Given the description of an element on the screen output the (x, y) to click on. 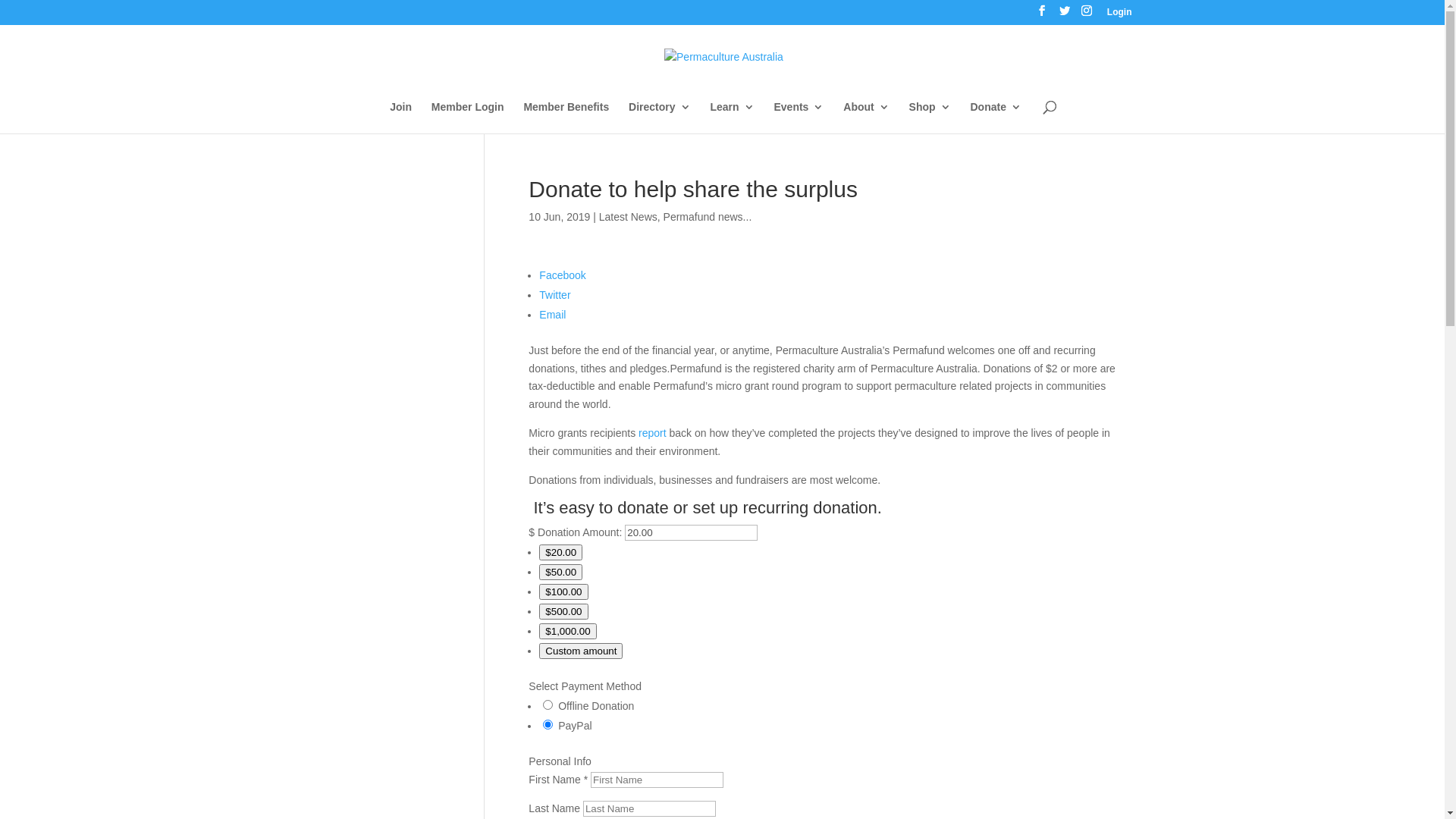
$1,000.00 Element type: text (567, 631)
Member Login Element type: text (467, 117)
$20.00 Element type: text (560, 552)
Events Element type: text (798, 117)
$500.00 Element type: text (563, 611)
Directory Element type: text (659, 117)
$50.00 Element type: text (560, 572)
Learn Element type: text (731, 117)
$100.00 Element type: text (563, 591)
Latest News Element type: text (628, 216)
Facebook Element type: text (835, 275)
Donate Element type: text (995, 117)
Shop Element type: text (929, 117)
Custom amount Element type: text (580, 650)
Email Element type: text (835, 314)
Permafund news... Element type: text (707, 216)
Member Benefits Element type: text (565, 117)
Twitter Element type: text (835, 294)
report Element type: text (652, 432)
About Element type: text (865, 117)
Join Element type: text (400, 117)
Login Element type: text (1119, 15)
